Given the description of an element on the screen output the (x, y) to click on. 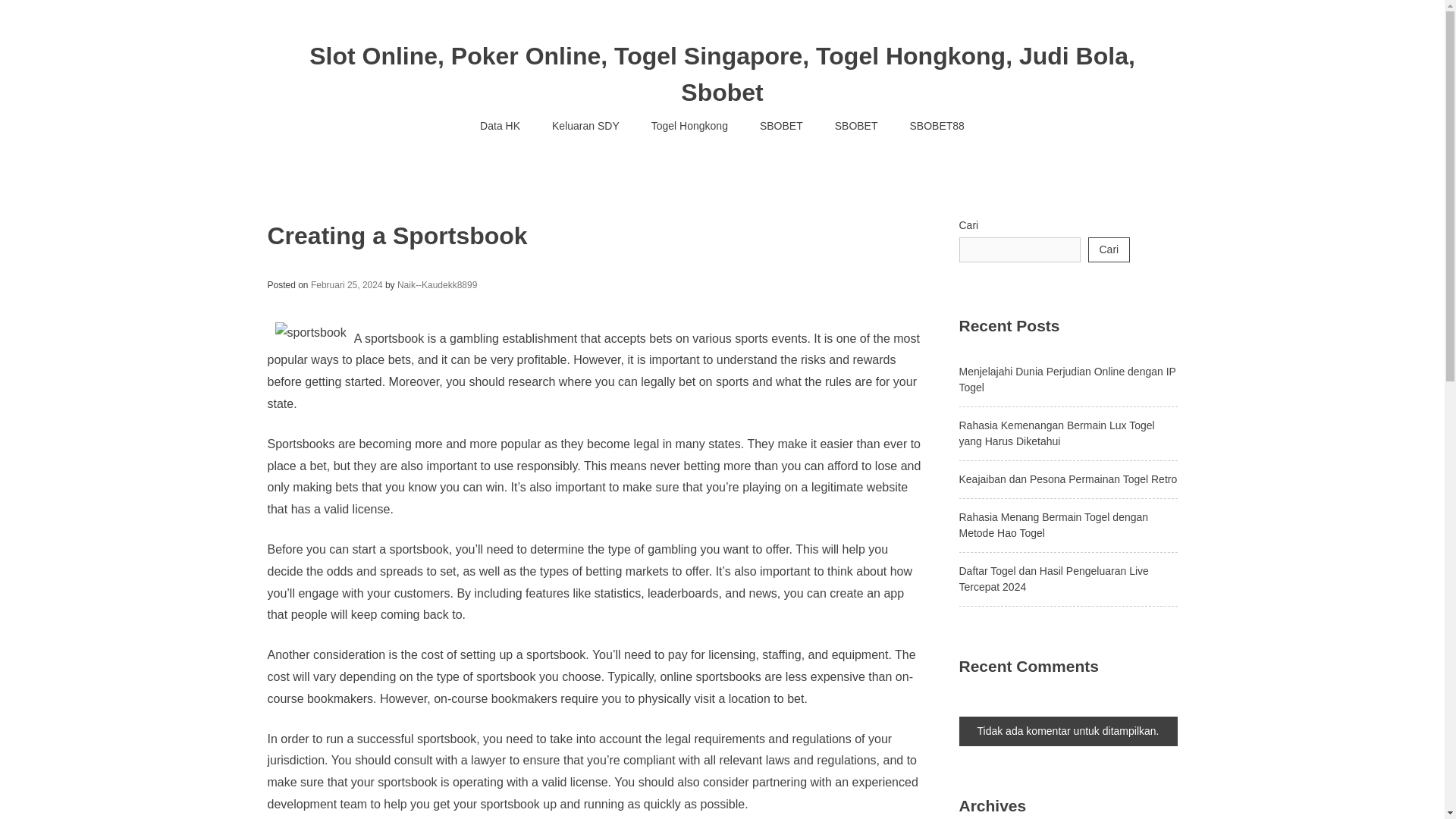
Keajaiban dan Pesona Permainan Togel Retro (1067, 479)
Togel Hongkong (689, 125)
SBOBET (855, 125)
Rahasia Kemenangan Bermain Lux Togel yang Harus Diketahui (1056, 433)
SBOBET (781, 125)
Menjelajahi Dunia Perjudian Online dengan IP Togel (1066, 379)
Cari (1108, 249)
Februari 25, 2024 (346, 285)
Data HK (499, 125)
